Given the description of an element on the screen output the (x, y) to click on. 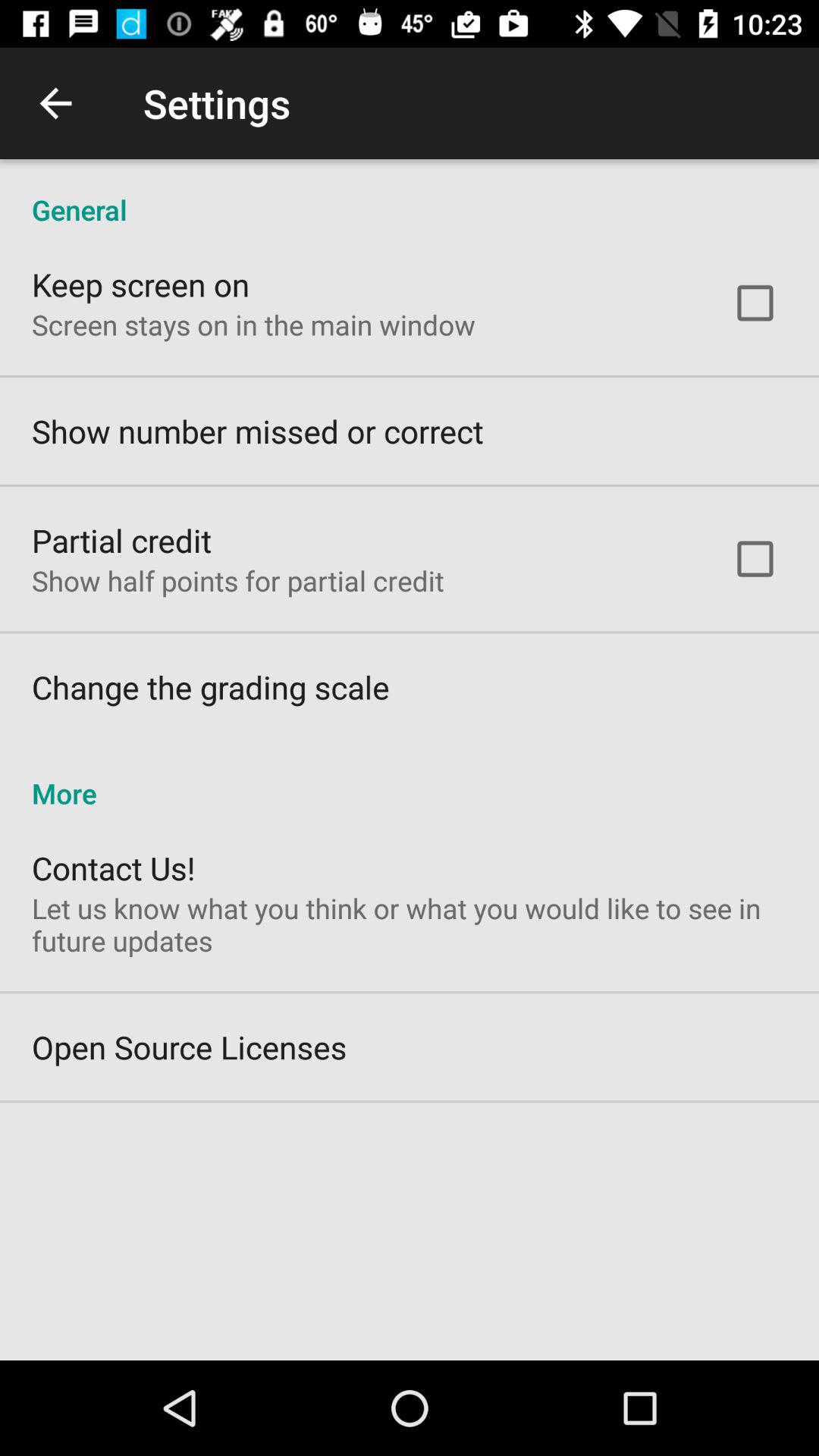
select icon above general icon (55, 103)
